Given the description of an element on the screen output the (x, y) to click on. 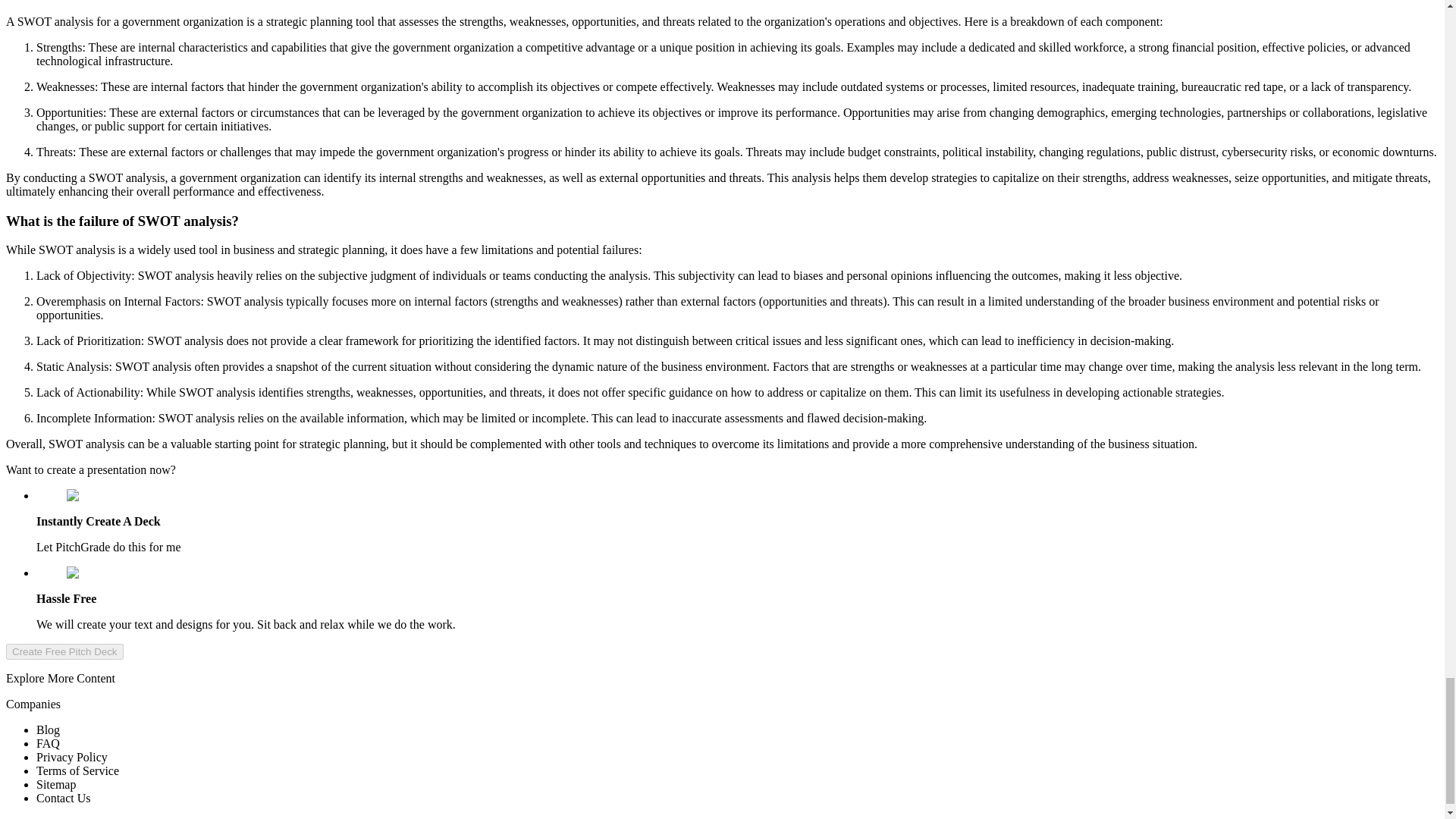
instantly (93, 495)
smile (85, 572)
Create Free Pitch Deck (64, 651)
